Given the description of an element on the screen output the (x, y) to click on. 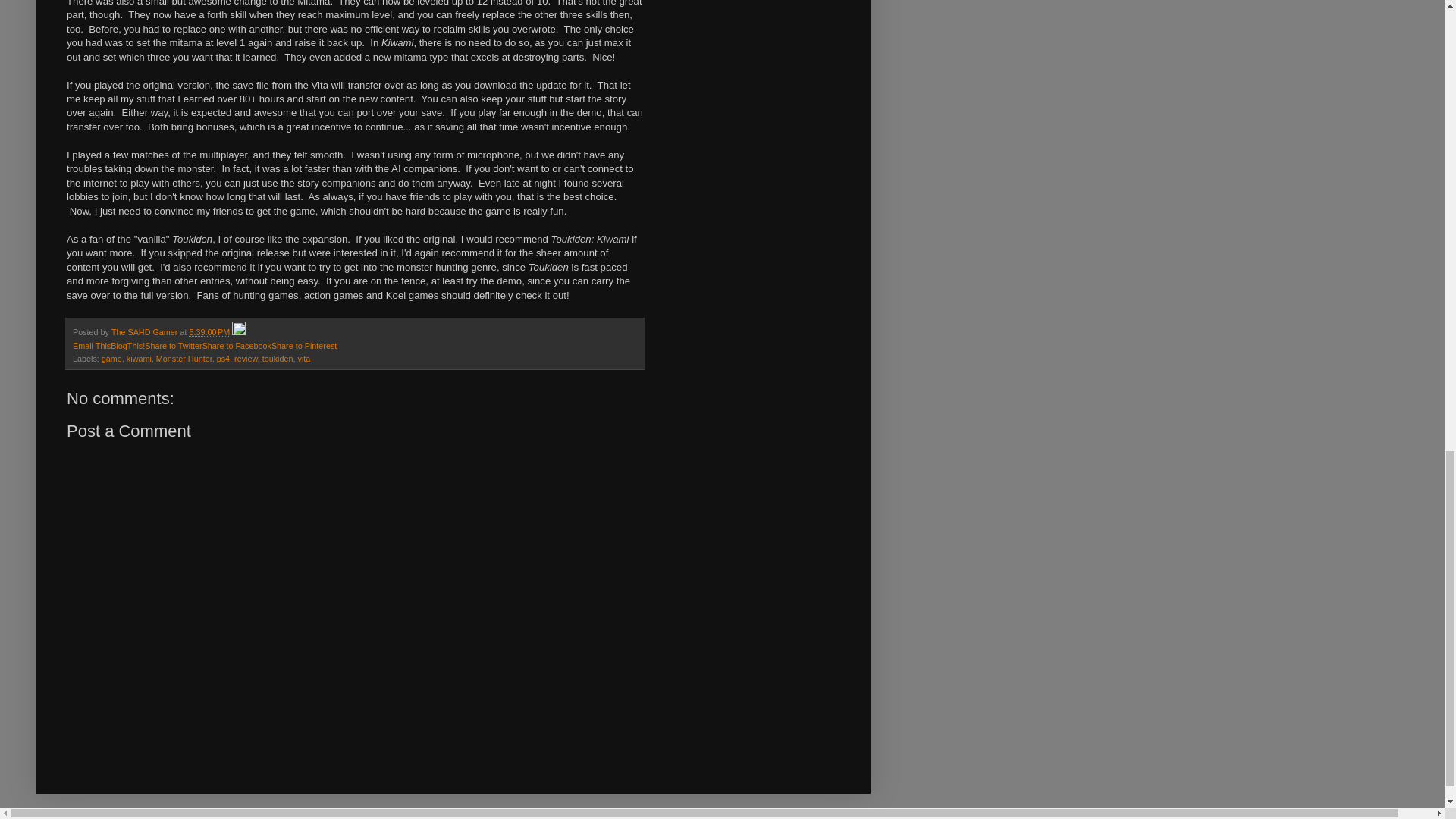
Share to Pinterest (303, 345)
BlogThis! (127, 345)
Monster Hunter (183, 358)
Edit Post (238, 331)
author profile (146, 331)
toukiden (278, 358)
review (245, 358)
Email This (91, 345)
Share to Facebook (236, 345)
Share to Pinterest (303, 345)
